Given the description of an element on the screen output the (x, y) to click on. 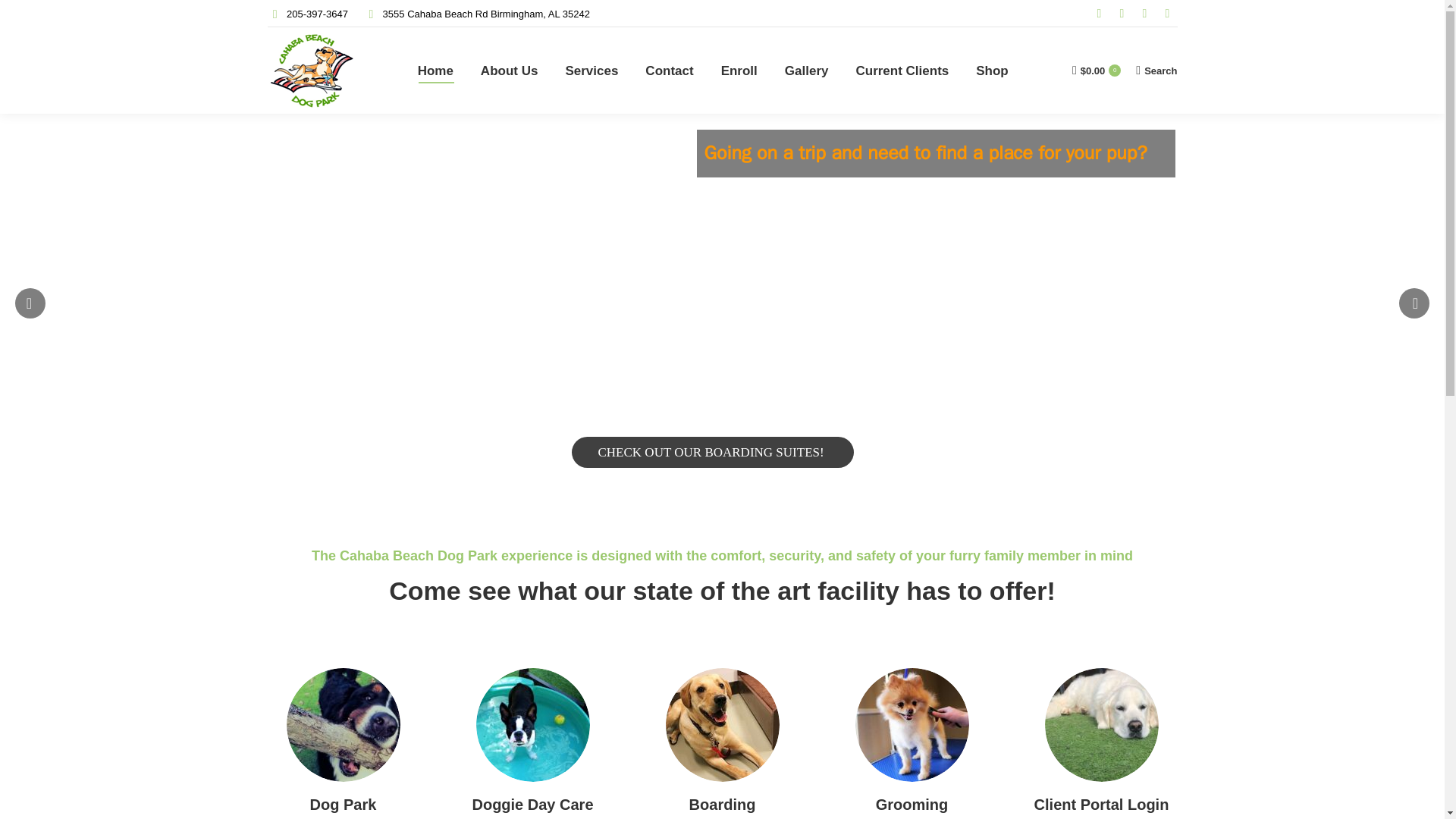
Search (1155, 69)
Contact (668, 69)
Berner with stick square (343, 725)
Instagram page opens in new window (1121, 13)
About Us (509, 69)
Instagram page opens in new window (1121, 13)
Current Clients (901, 69)
X page opens in new window (1144, 13)
YouTube page opens in new window (1098, 13)
Gizmo in pool square (532, 725)
X page opens in new window (1144, 13)
Facebook page opens in new window (1166, 13)
Facebook page opens in new window (1166, 13)
Services (591, 69)
YouTube page opens in new window (1098, 13)
